Given the description of an element on the screen output the (x, y) to click on. 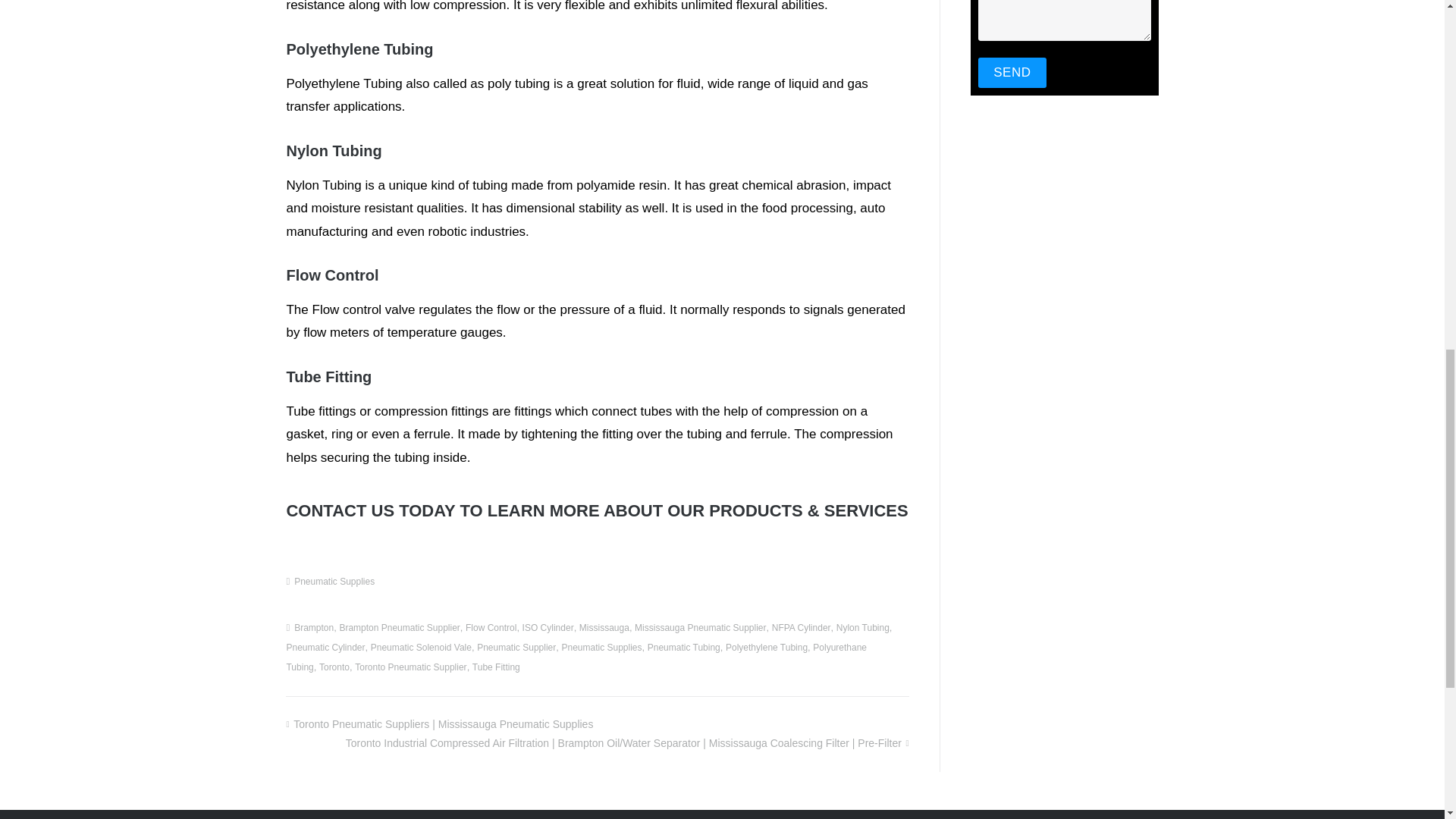
Send (1011, 72)
Mississauga Pneumatic Supplier (699, 627)
Brampton (313, 627)
Flow Control (490, 627)
Nylon Tubing (862, 627)
Mississauga (603, 627)
ISO Cylinder (547, 627)
NFPA Cylinder (801, 627)
Pneumatic Solenoid Vale (421, 647)
Brampton Pneumatic Supplier (399, 627)
